Given the description of an element on the screen output the (x, y) to click on. 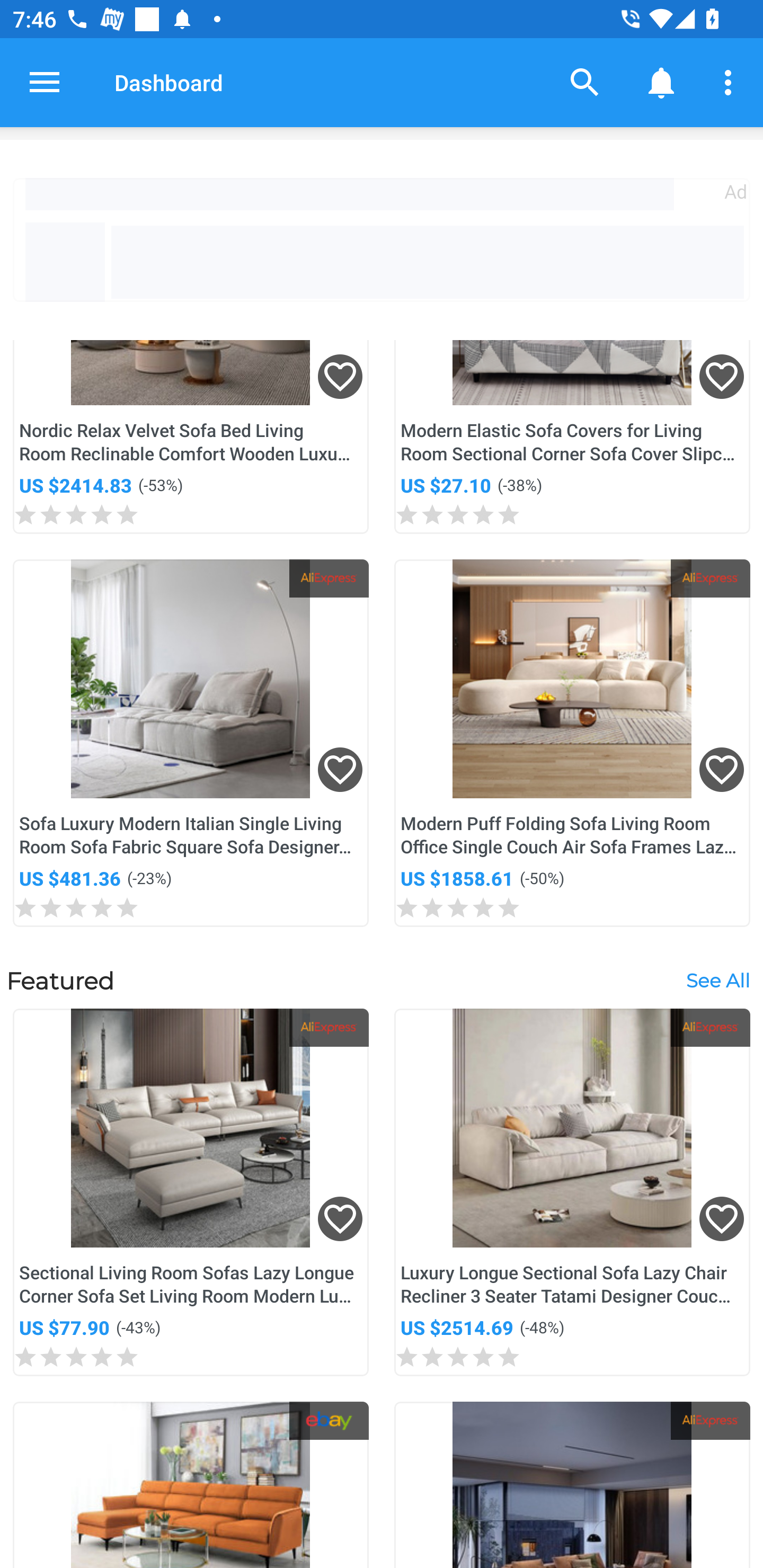
Open navigation drawer (44, 82)
Search (585, 81)
More options (731, 81)
See All (717, 979)
